Given the description of an element on the screen output the (x, y) to click on. 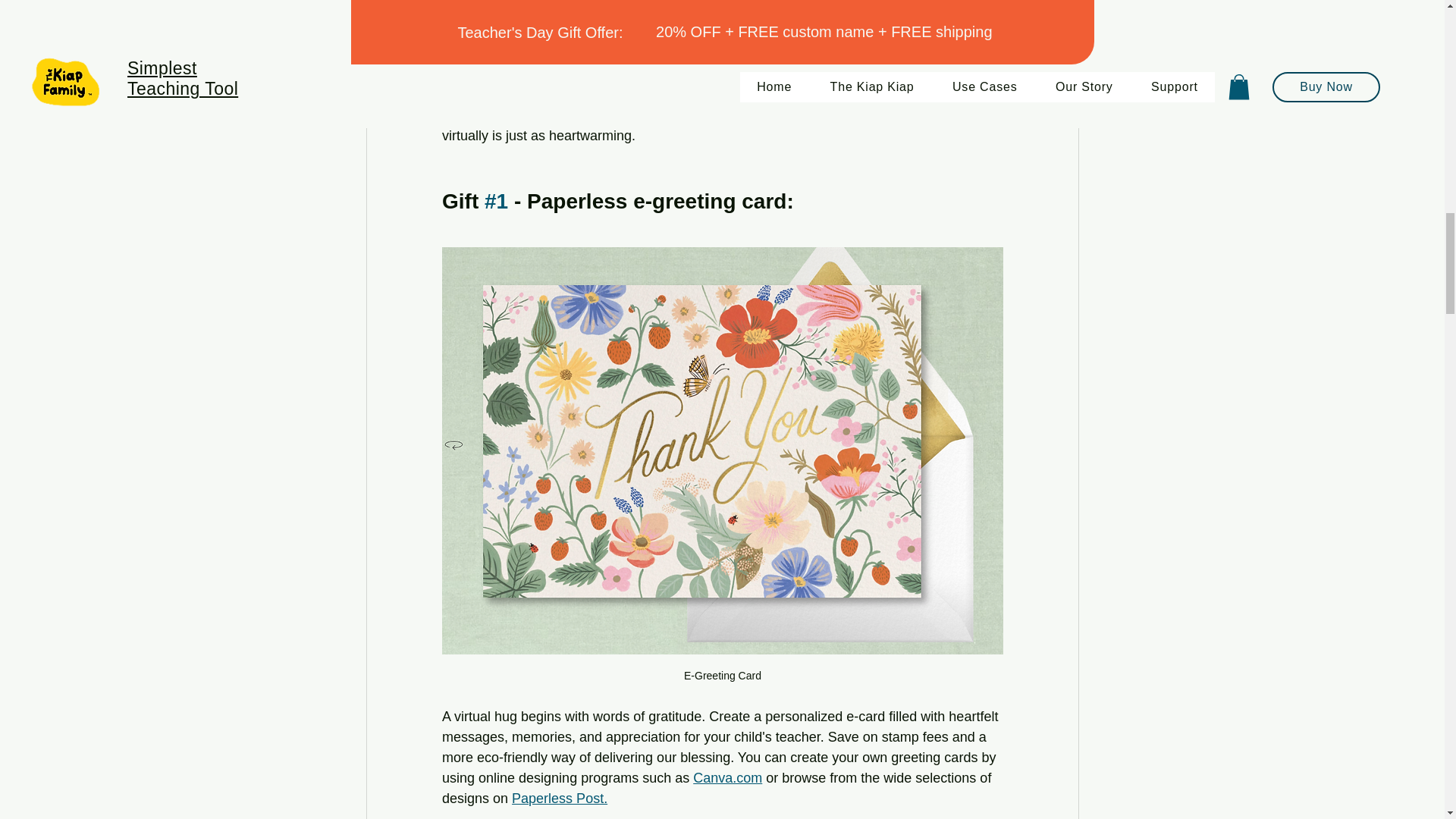
Canva.com (727, 777)
Paperless Post. (559, 798)
